Given the description of an element on the screen output the (x, y) to click on. 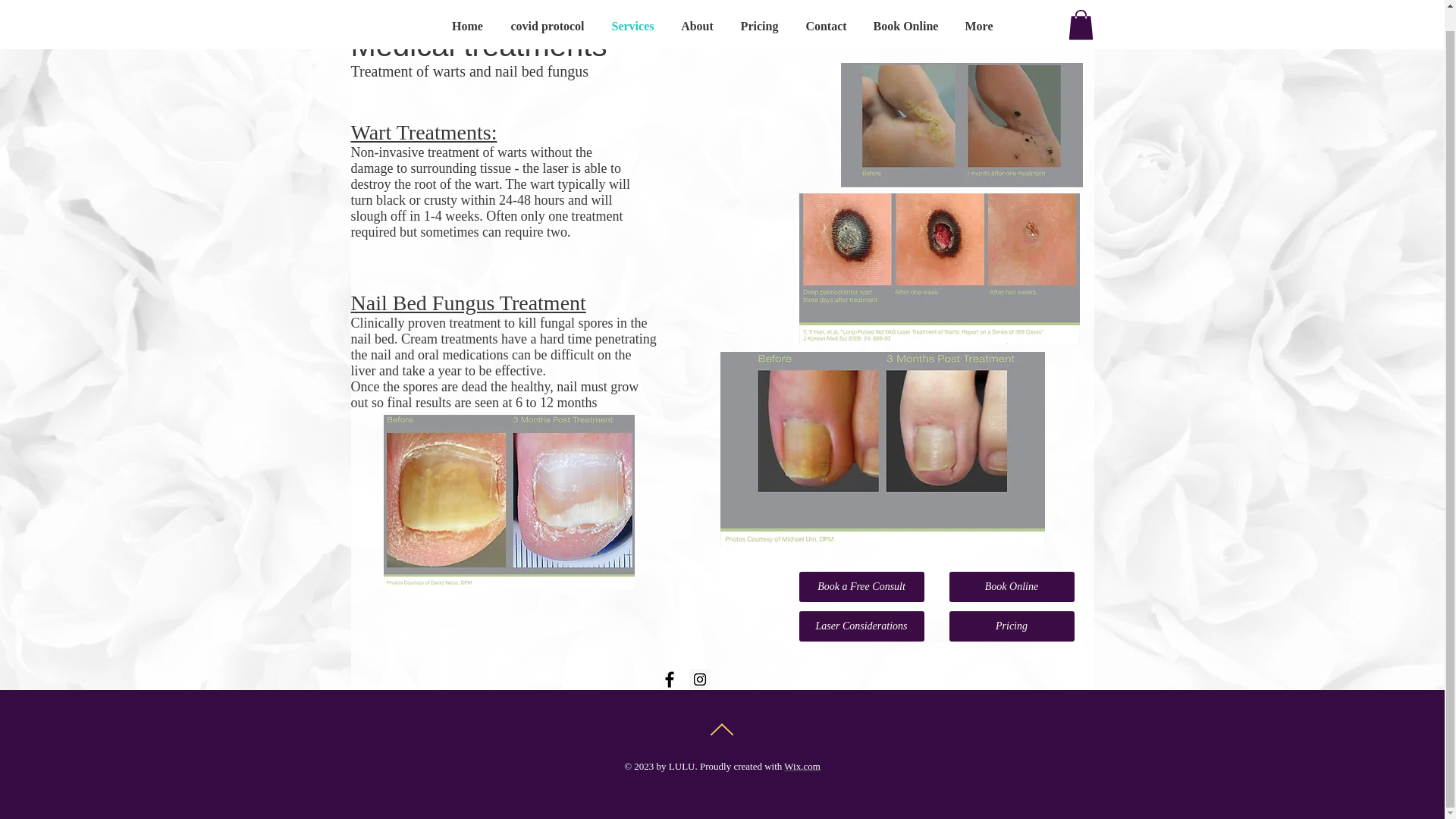
Laser Considerations (861, 625)
Wix.com (802, 766)
Contact (826, 12)
Pricing (759, 12)
Pricing (1011, 625)
Services (631, 12)
covid protocol (547, 12)
About (696, 12)
Book a Free Consult (861, 586)
Book Online (1011, 586)
